Given the description of an element on the screen output the (x, y) to click on. 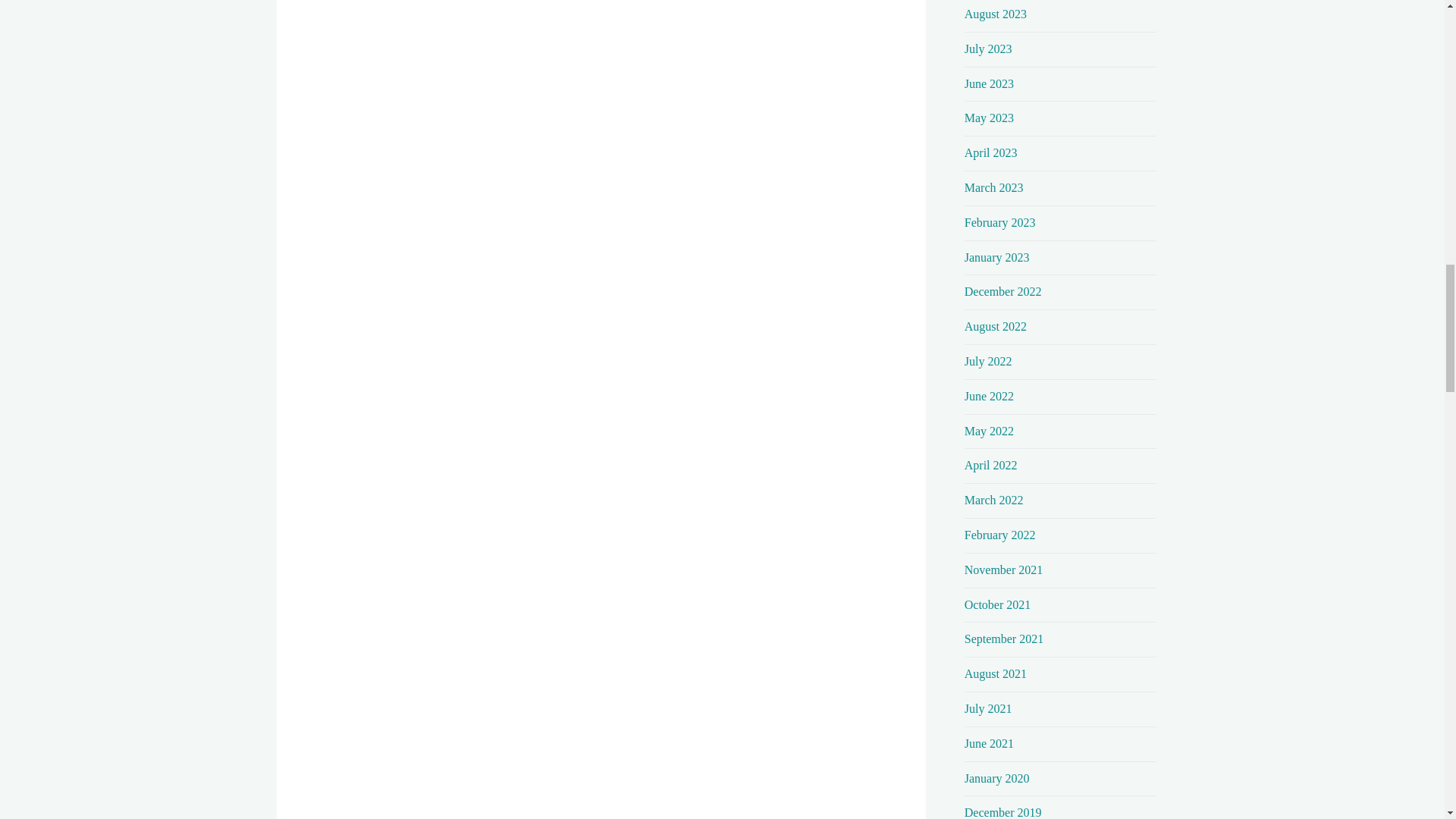
August 2023 (994, 13)
May 2023 (988, 117)
June 2023 (988, 83)
July 2023 (987, 48)
